Given the description of an element on the screen output the (x, y) to click on. 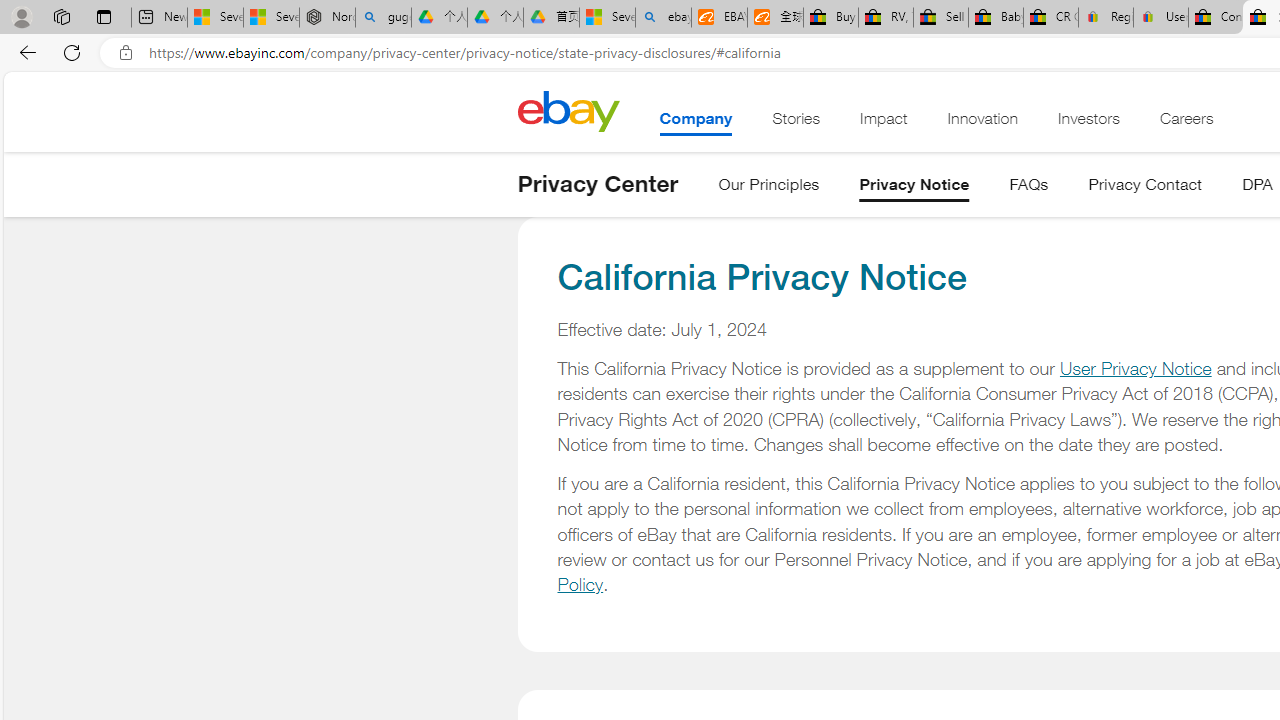
Privacy Center (597, 183)
User Privacy Notice (1135, 368)
FAQs (1028, 188)
Privacy Contact (1145, 188)
Privacy Notice (914, 188)
Our Principles (769, 188)
Consumer Health Data Privacy Policy - eBay Inc. (1215, 17)
